Given the description of an element on the screen output the (x, y) to click on. 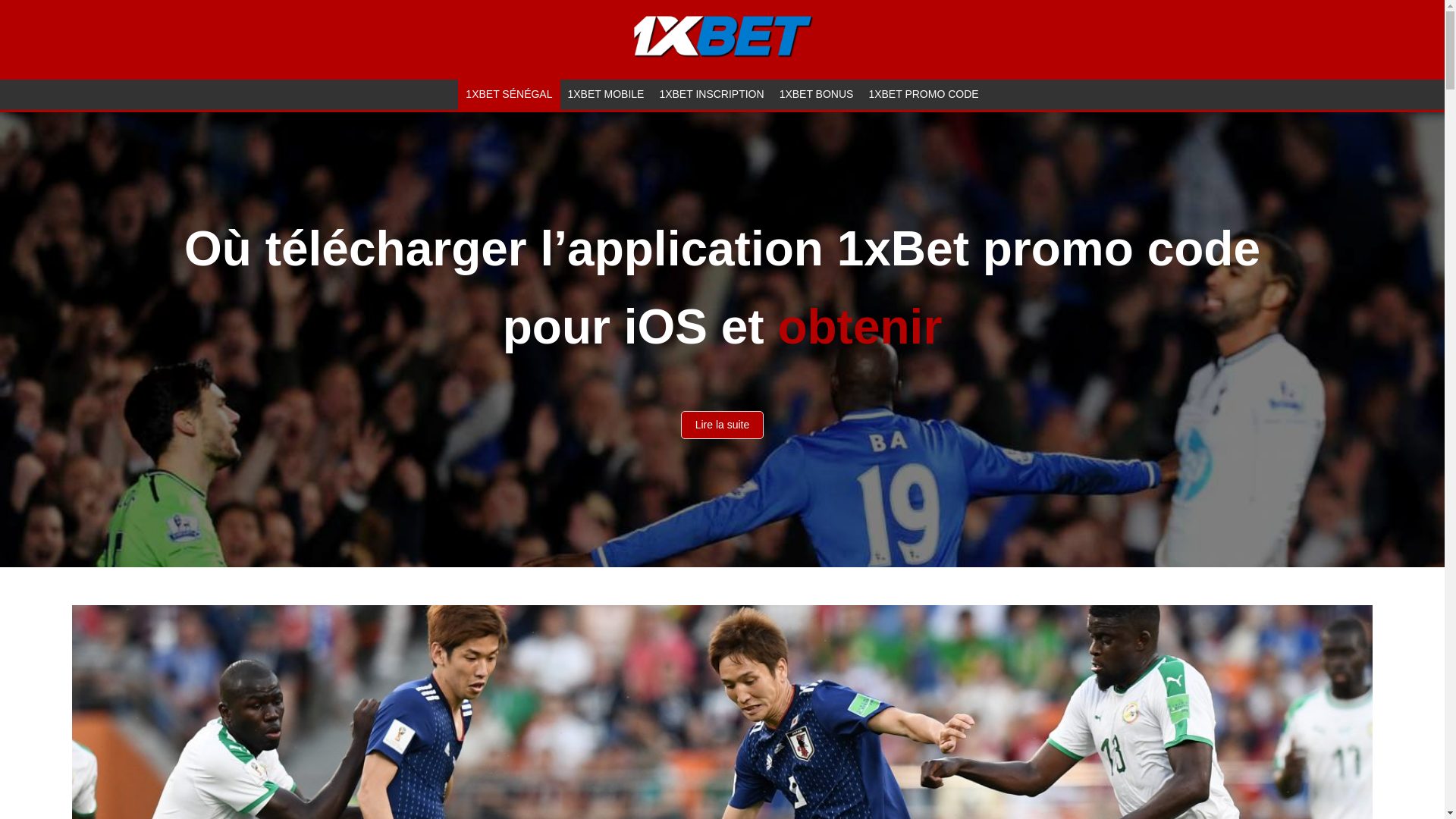
1XBET BONUS Element type: text (816, 94)
1XBET MOBILE Element type: text (605, 94)
1XBET INSCRIPTION Element type: text (711, 94)
1XBET PROMO CODE Element type: text (922, 94)
Lire la suite Element type: text (722, 424)
